Given the description of an element on the screen output the (x, y) to click on. 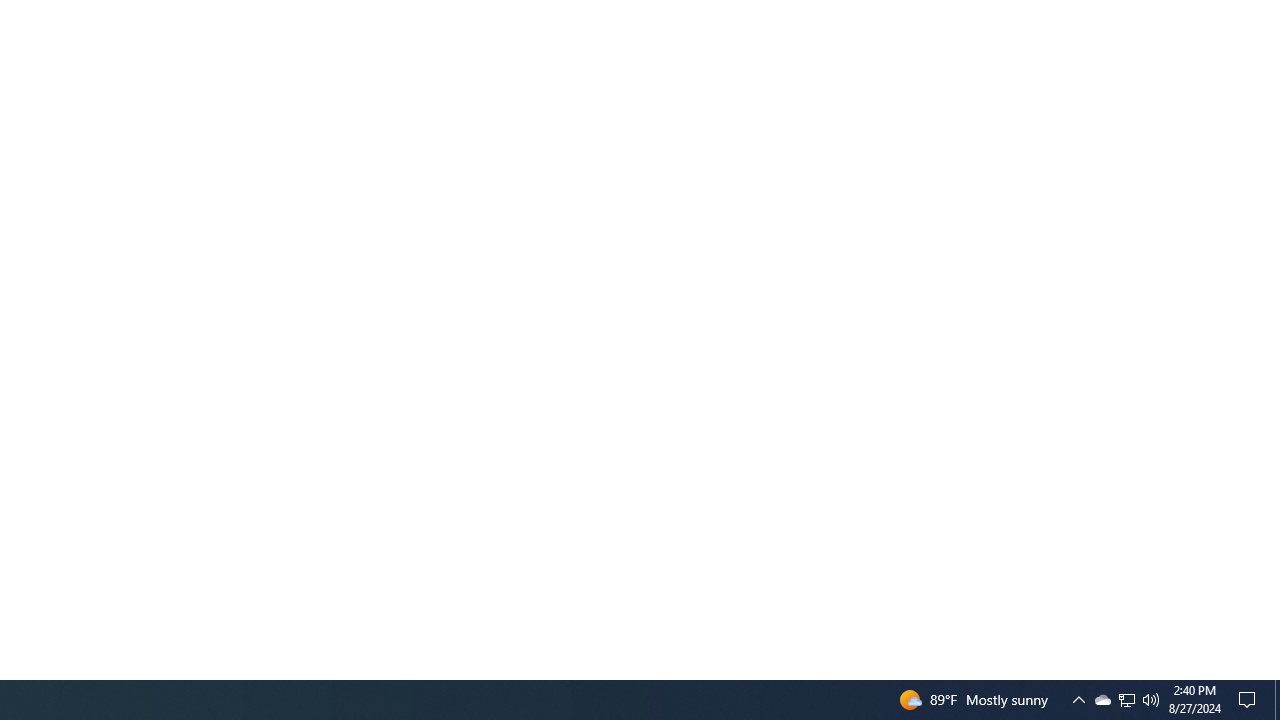
Action Center, No new notifications (1126, 699)
Notification Chevron (1250, 699)
User Promoted Notification Area (1078, 699)
Q2790: 100% (1126, 699)
Show desktop (1102, 699)
